Given the description of an element on the screen output the (x, y) to click on. 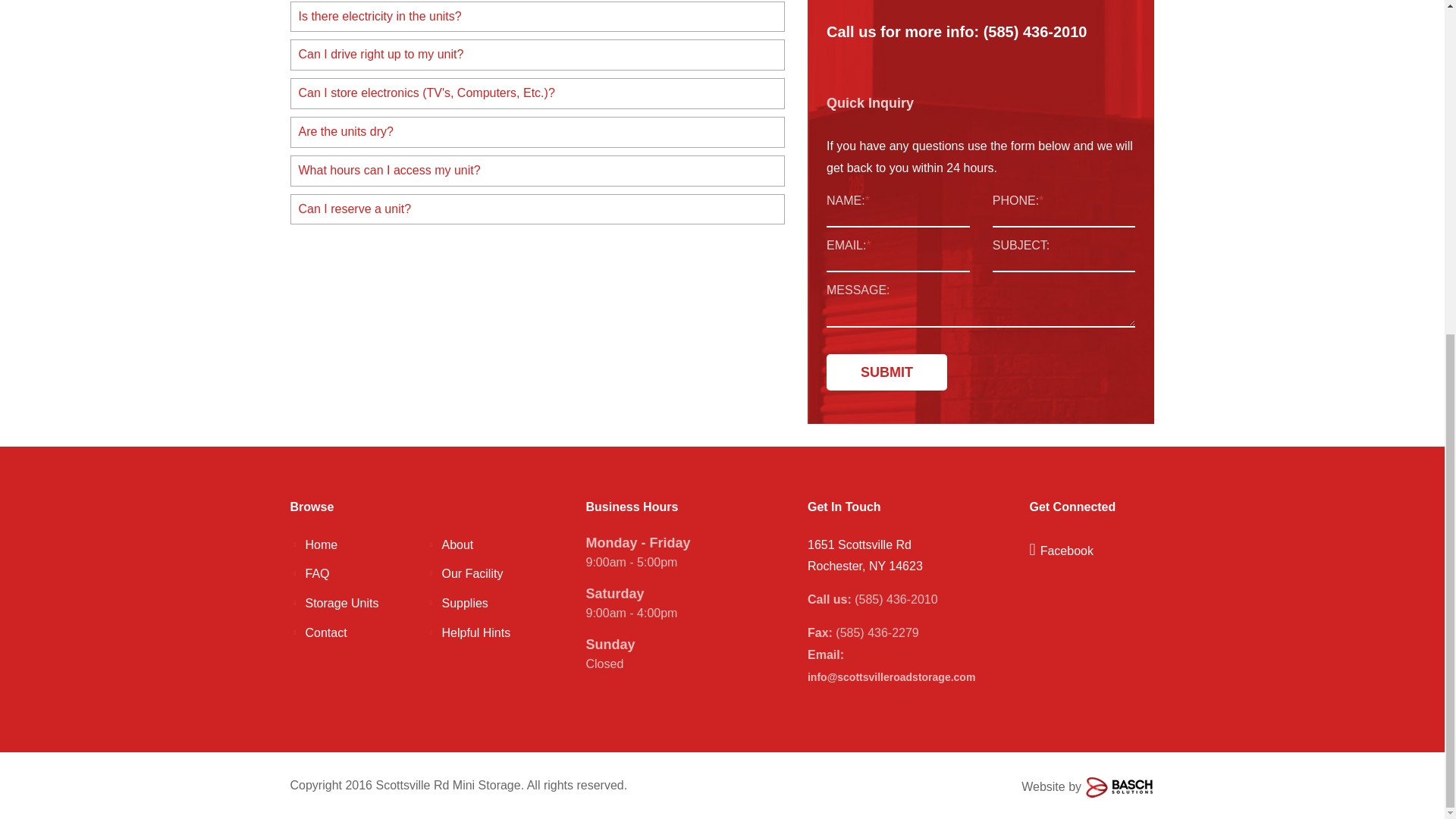
Is there electricity in the units? (537, 16)
Can I reserve a unit? (537, 209)
Are the units dry? (537, 132)
Can I drive right up to my unit? (537, 54)
SUBMIT (887, 371)
What hours can I access my unit? (537, 170)
SUBMIT (887, 371)
